Given the description of an element on the screen output the (x, y) to click on. 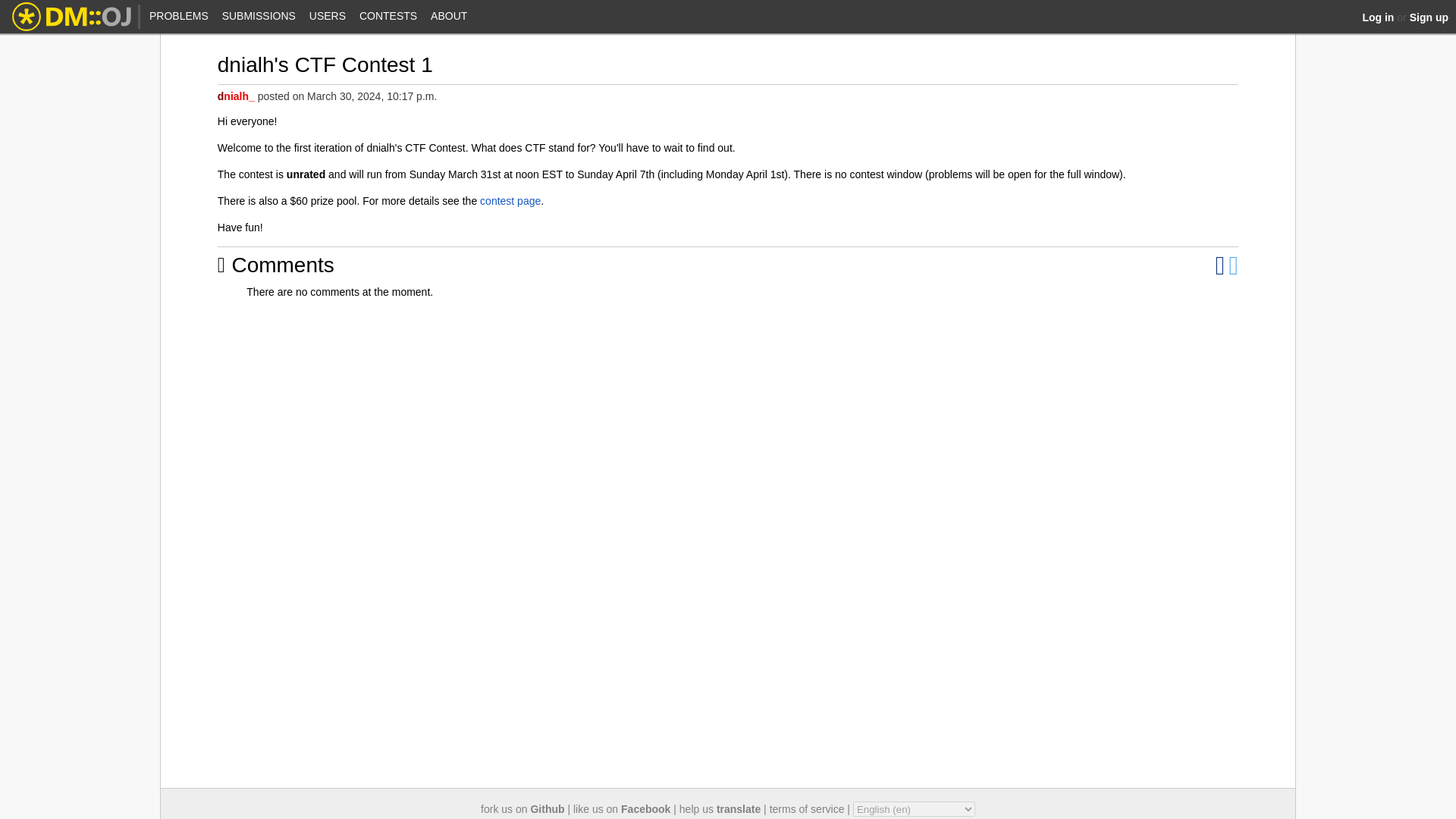
fork us on Github (522, 808)
CONTESTS (387, 16)
USERS (327, 16)
like us on Facebook (621, 808)
terms of service (807, 808)
PROBLEMS (179, 16)
help us translate (719, 808)
contest page (510, 200)
SUBMISSIONS (258, 16)
ABOUT (448, 16)
